Given the description of an element on the screen output the (x, y) to click on. 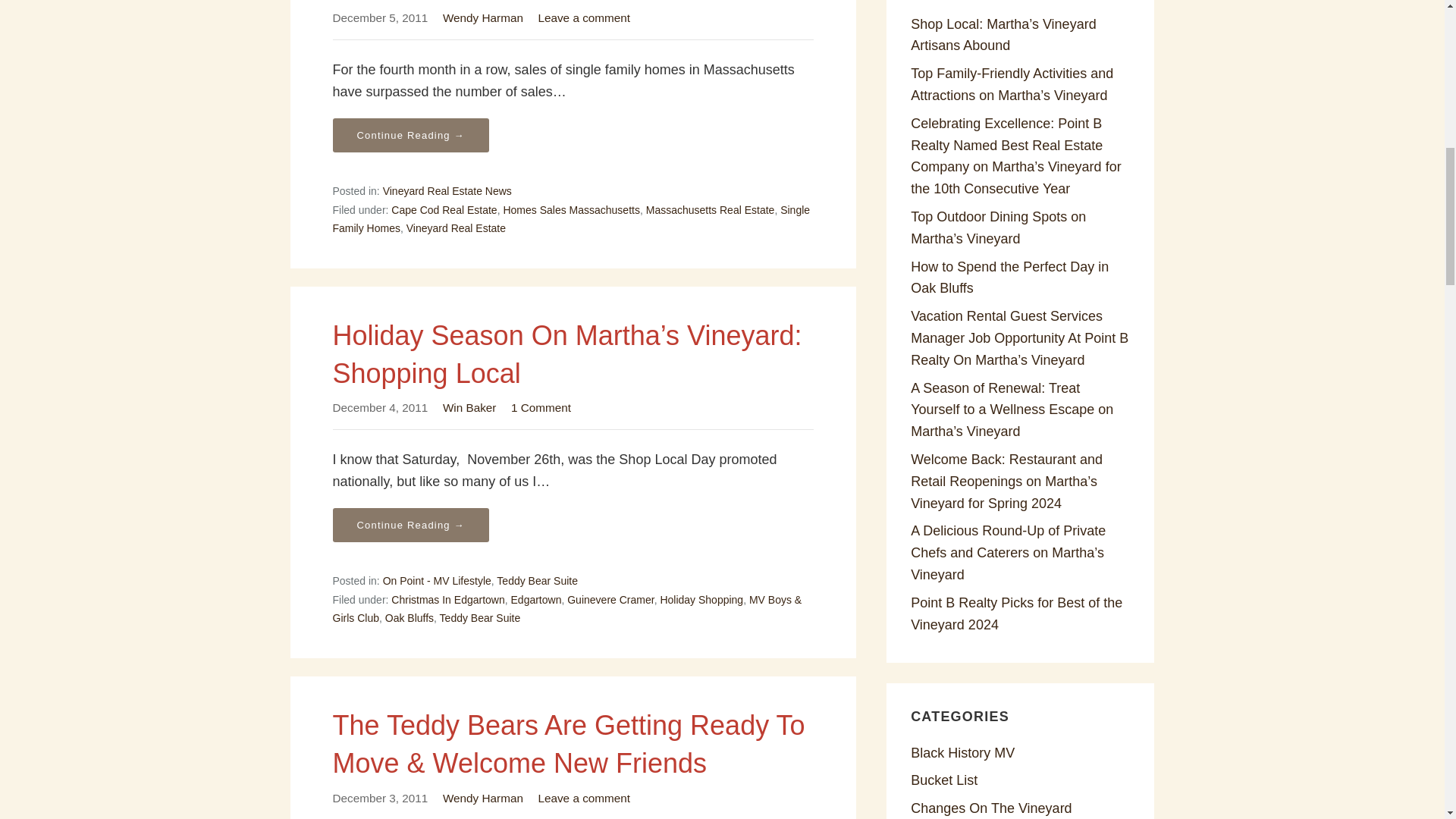
Leave a comment (583, 17)
Posts by Win Baker (469, 407)
Posts by Wendy Harman (482, 17)
Wendy Harman (482, 17)
Posts by Wendy Harman (482, 797)
